Given the description of an element on the screen output the (x, y) to click on. 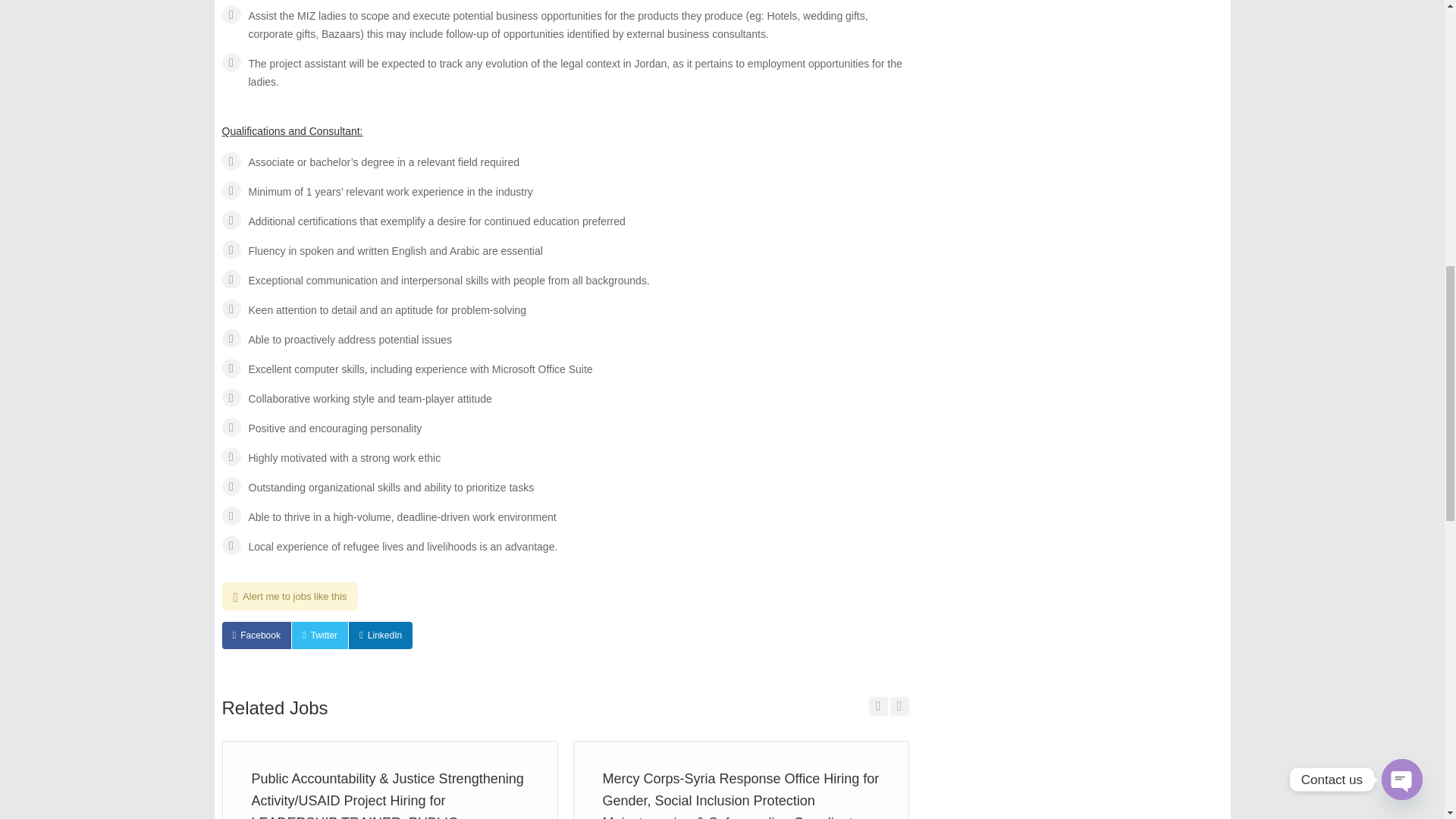
LinkedIn (380, 635)
Facebook (255, 635)
Alert me to jobs like this (289, 596)
Twitter (319, 635)
Twitter (319, 635)
